Given the description of an element on the screen output the (x, y) to click on. 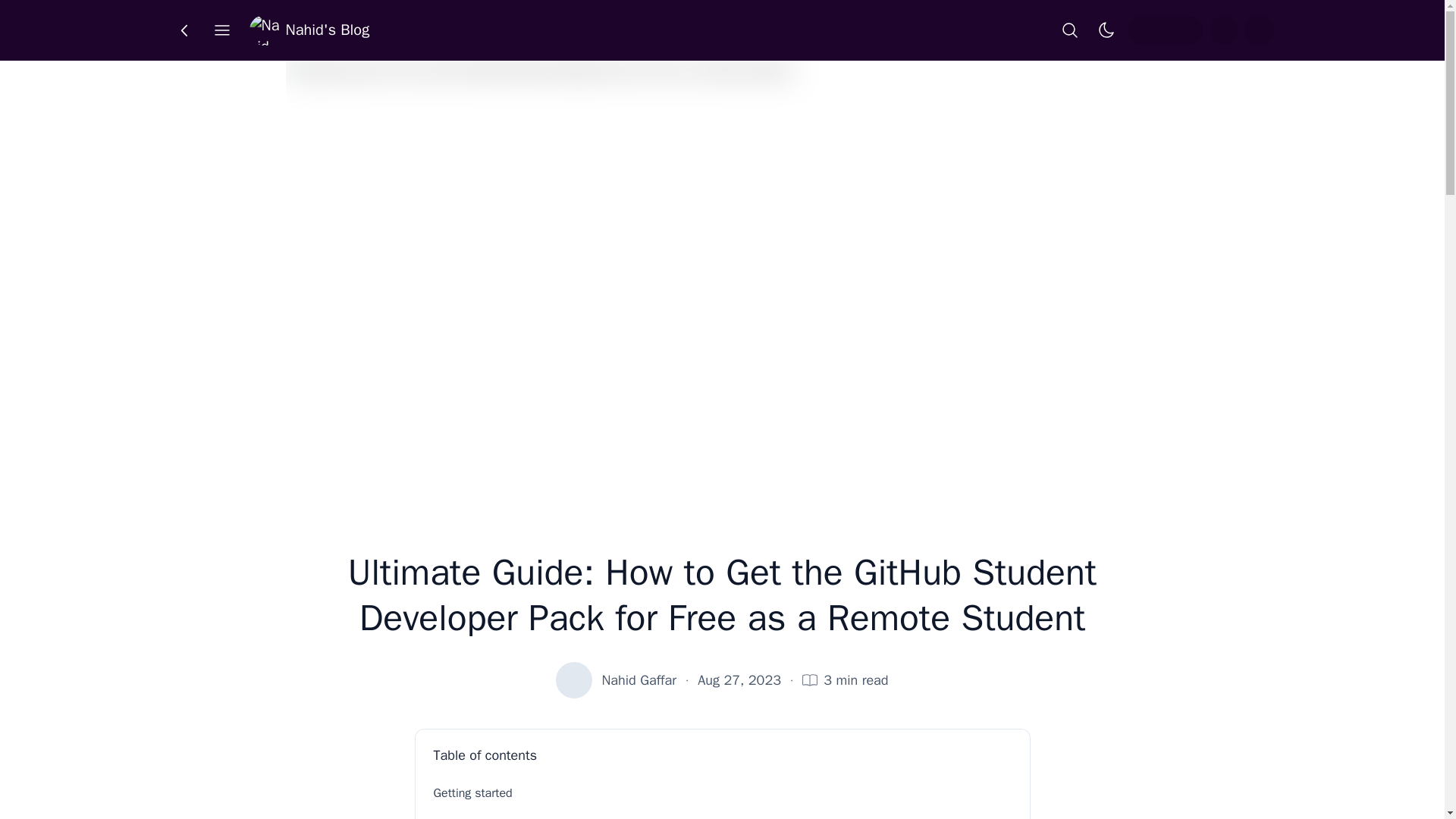
Wrap Up! (722, 815)
Aug 27, 2023 (738, 680)
Nahid Gaffar (639, 680)
Getting started (722, 793)
Nahid's Blog (308, 30)
